Given the description of an element on the screen output the (x, y) to click on. 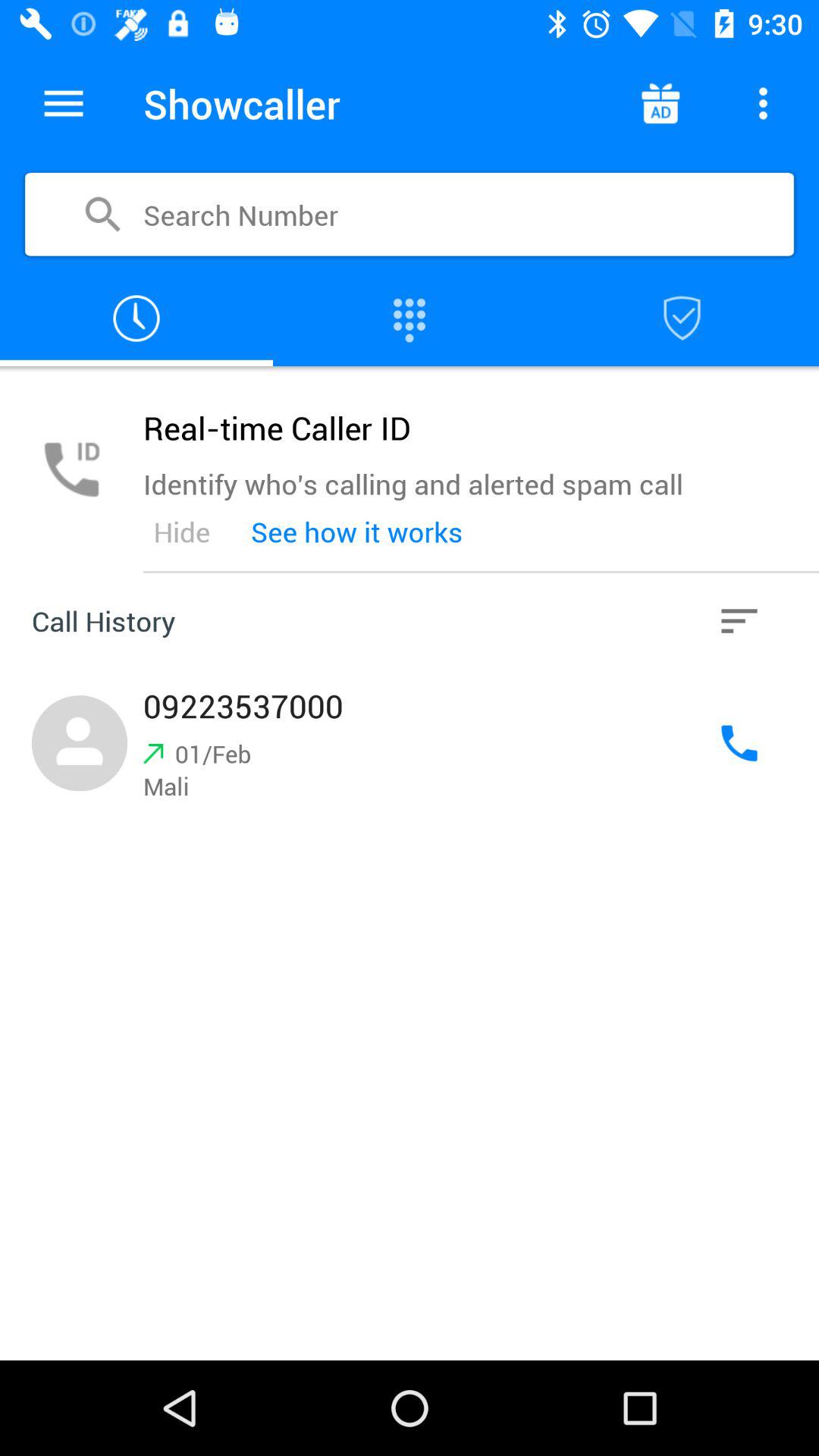
tap the item below identify who s item (356, 531)
